Given the description of an element on the screen output the (x, y) to click on. 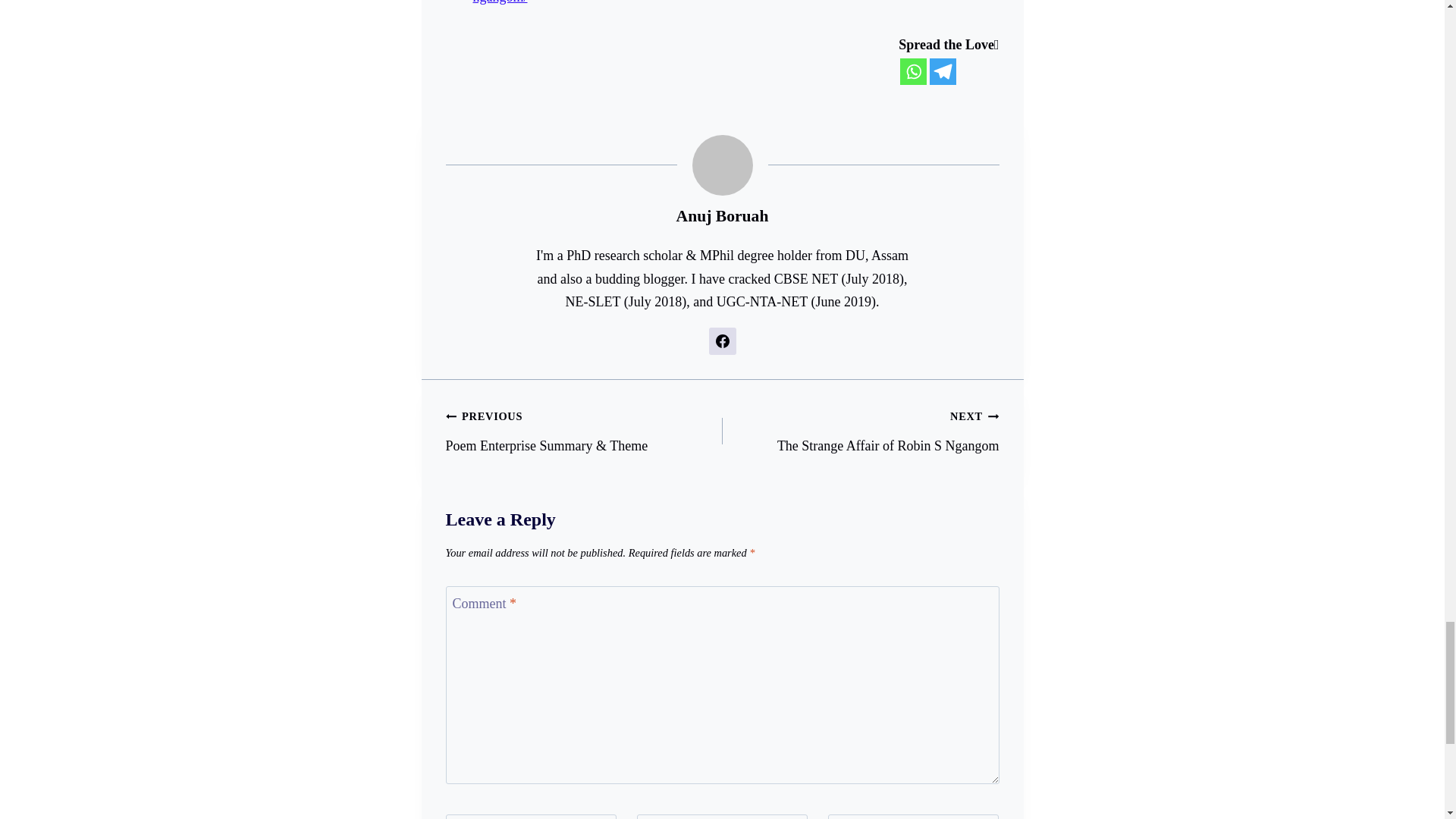
Telegram (943, 71)
Whatsapp (912, 71)
